Given the description of an element on the screen output the (x, y) to click on. 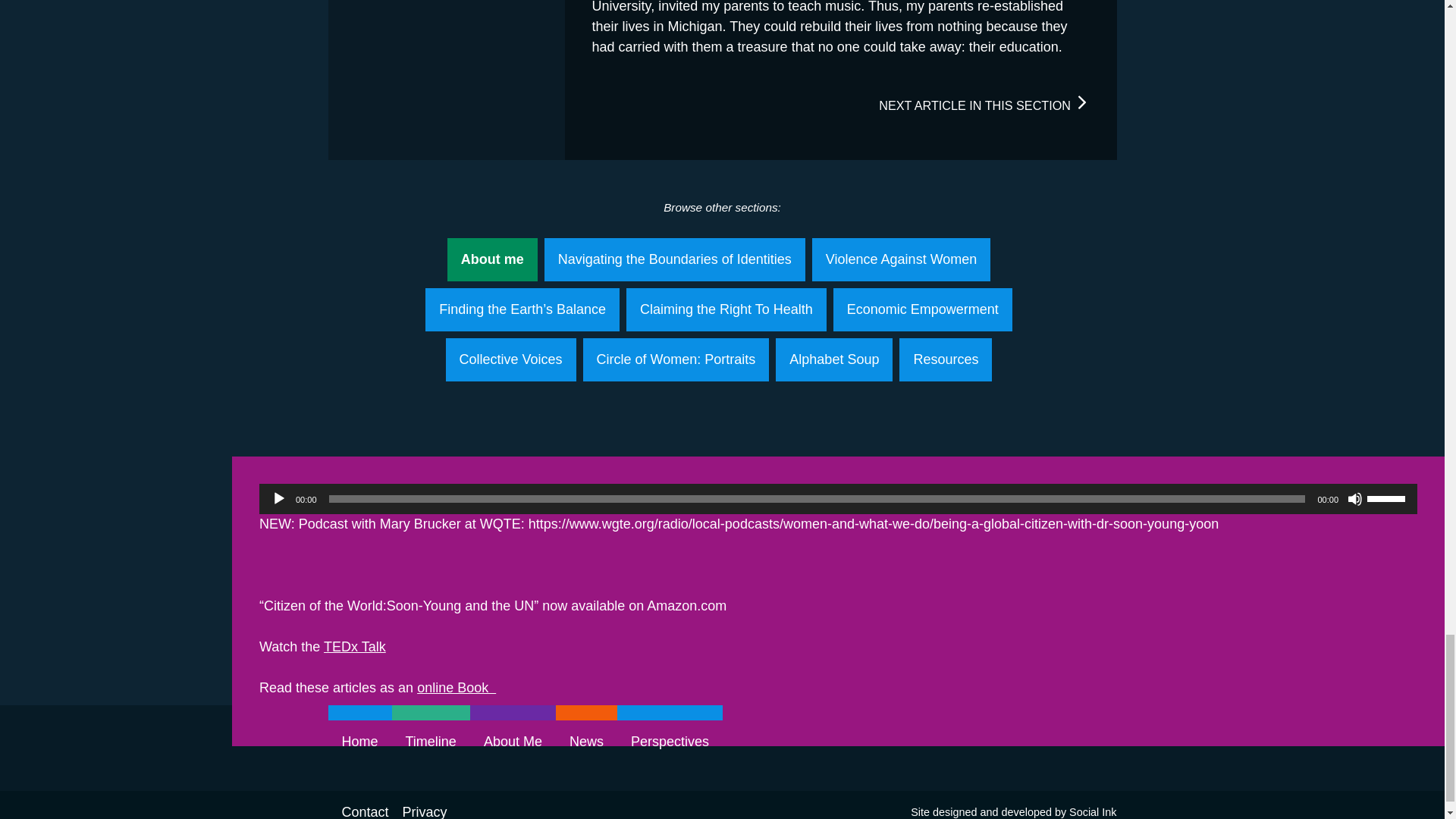
Play (278, 498)
Mute (1355, 498)
RIGHT ARROW (1081, 102)
